Given the description of an element on the screen output the (x, y) to click on. 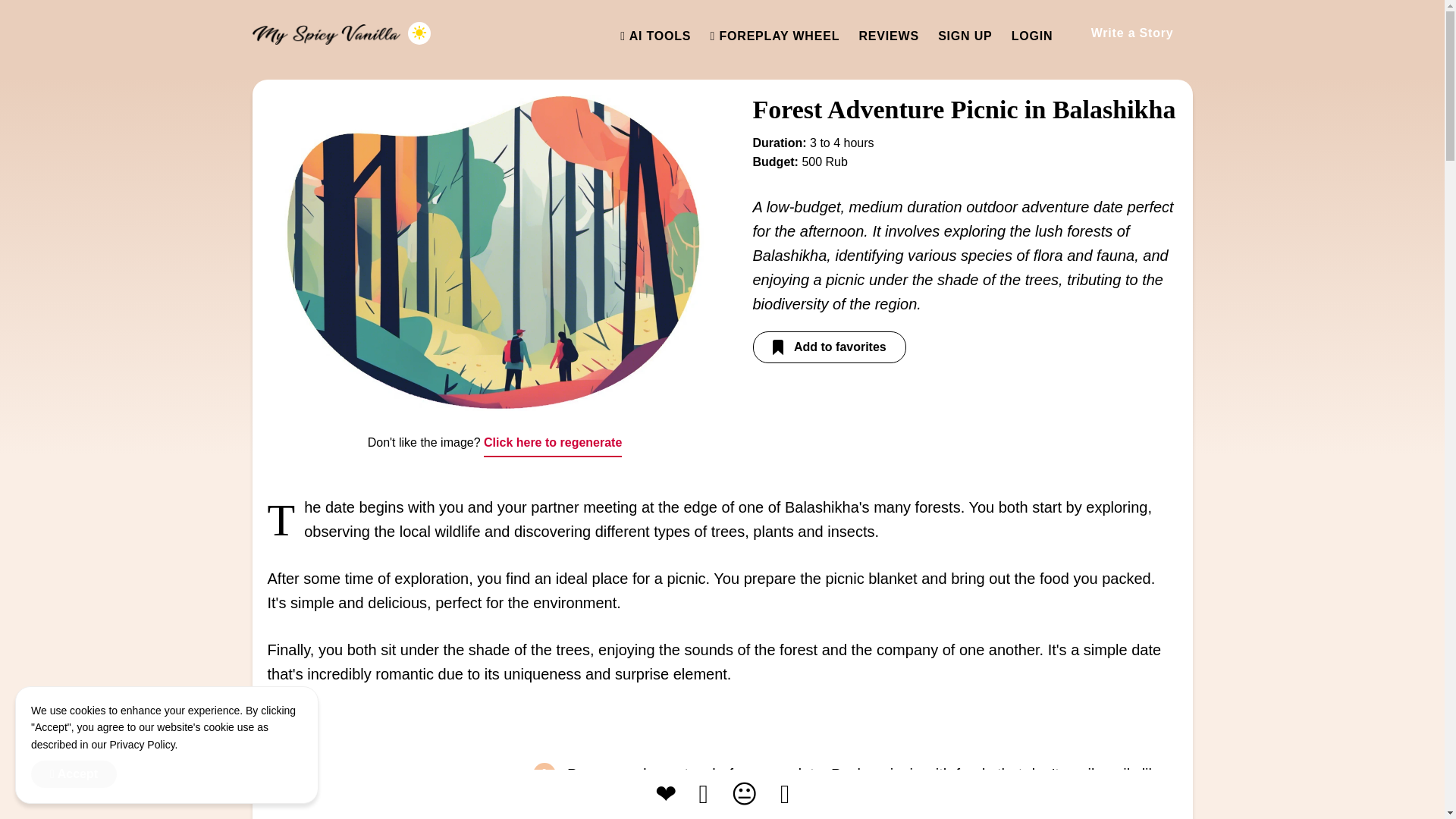
SIGN UP (964, 35)
Write a Story (1131, 32)
REVIEWS (888, 35)
Click here to regenerate (552, 443)
Add to favorites (828, 347)
LOGIN (1031, 35)
